Given the description of an element on the screen output the (x, y) to click on. 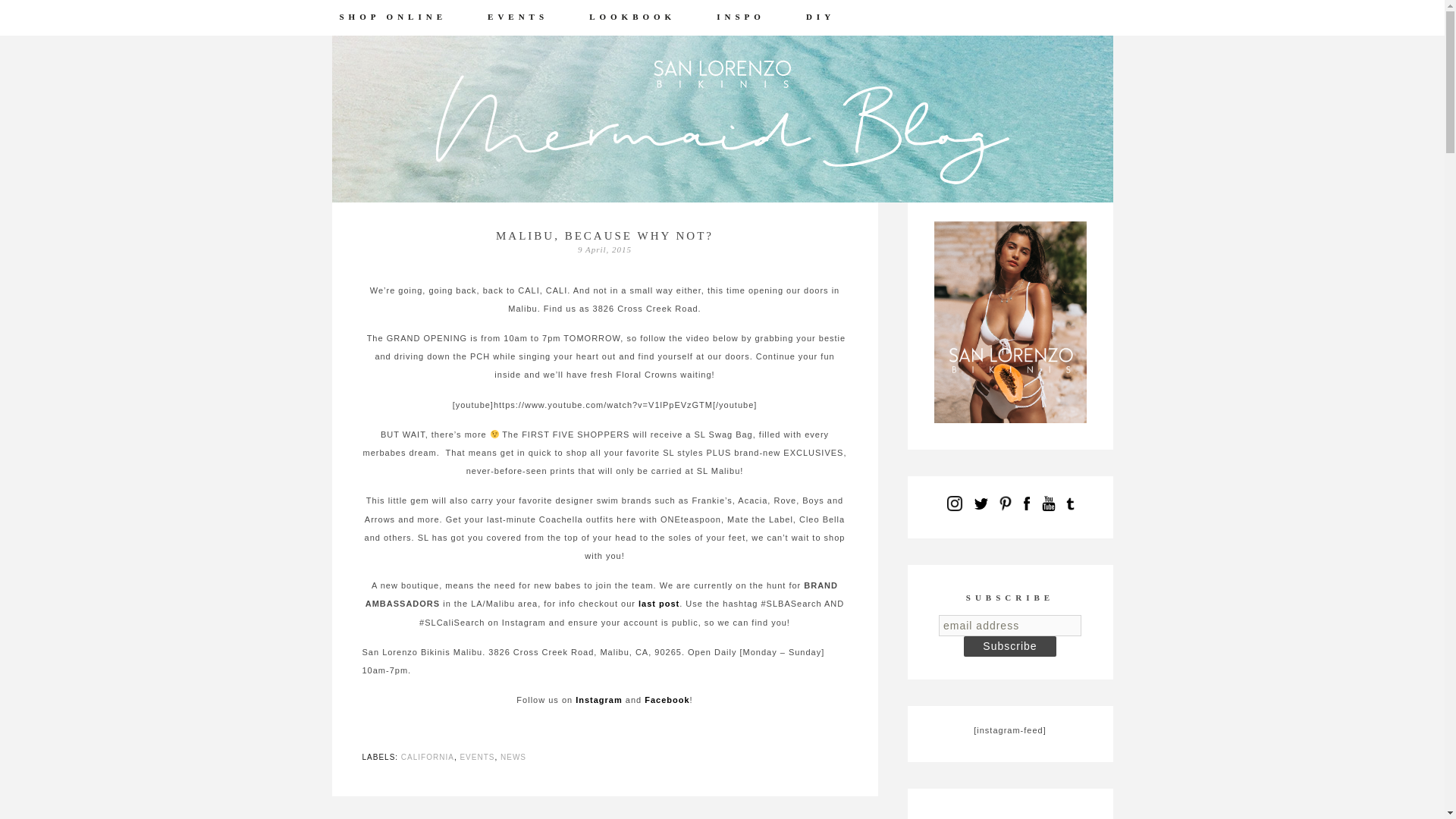
Twitter (980, 503)
last post (659, 603)
san lorenzo bikinis. (722, 119)
MEET OUR AMBASSADORS (459, 43)
INSPO (759, 17)
Facebook (1025, 503)
DIY (839, 17)
EVENTS (536, 17)
Tumblr (1068, 503)
Search (34, 8)
NEWS (512, 756)
Pinterest (1004, 503)
Subscribe (1009, 646)
SHOP ONLINE (411, 17)
Instagram (599, 699)
